Given the description of an element on the screen output the (x, y) to click on. 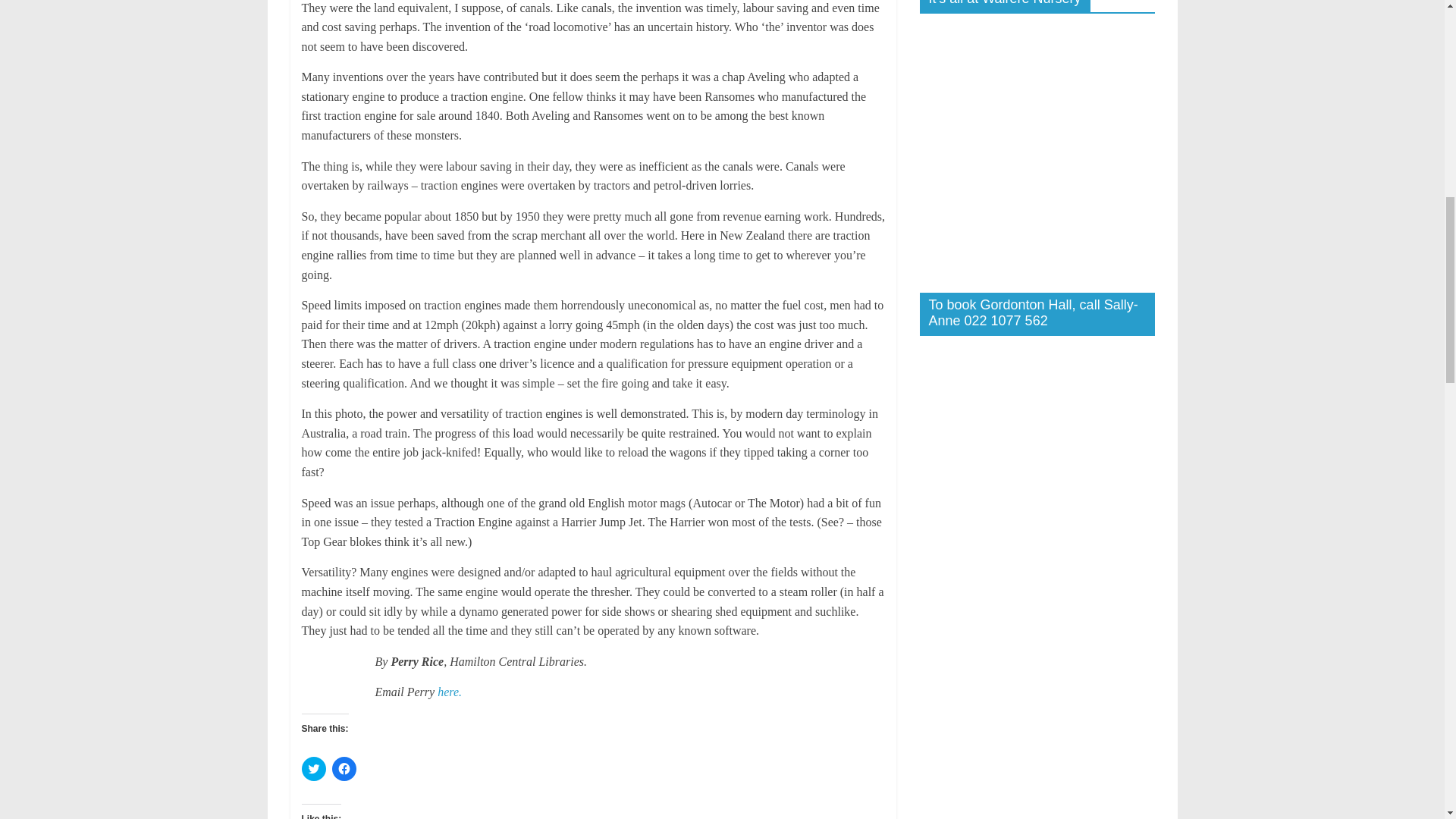
here. (449, 691)
